Given the description of an element on the screen output the (x, y) to click on. 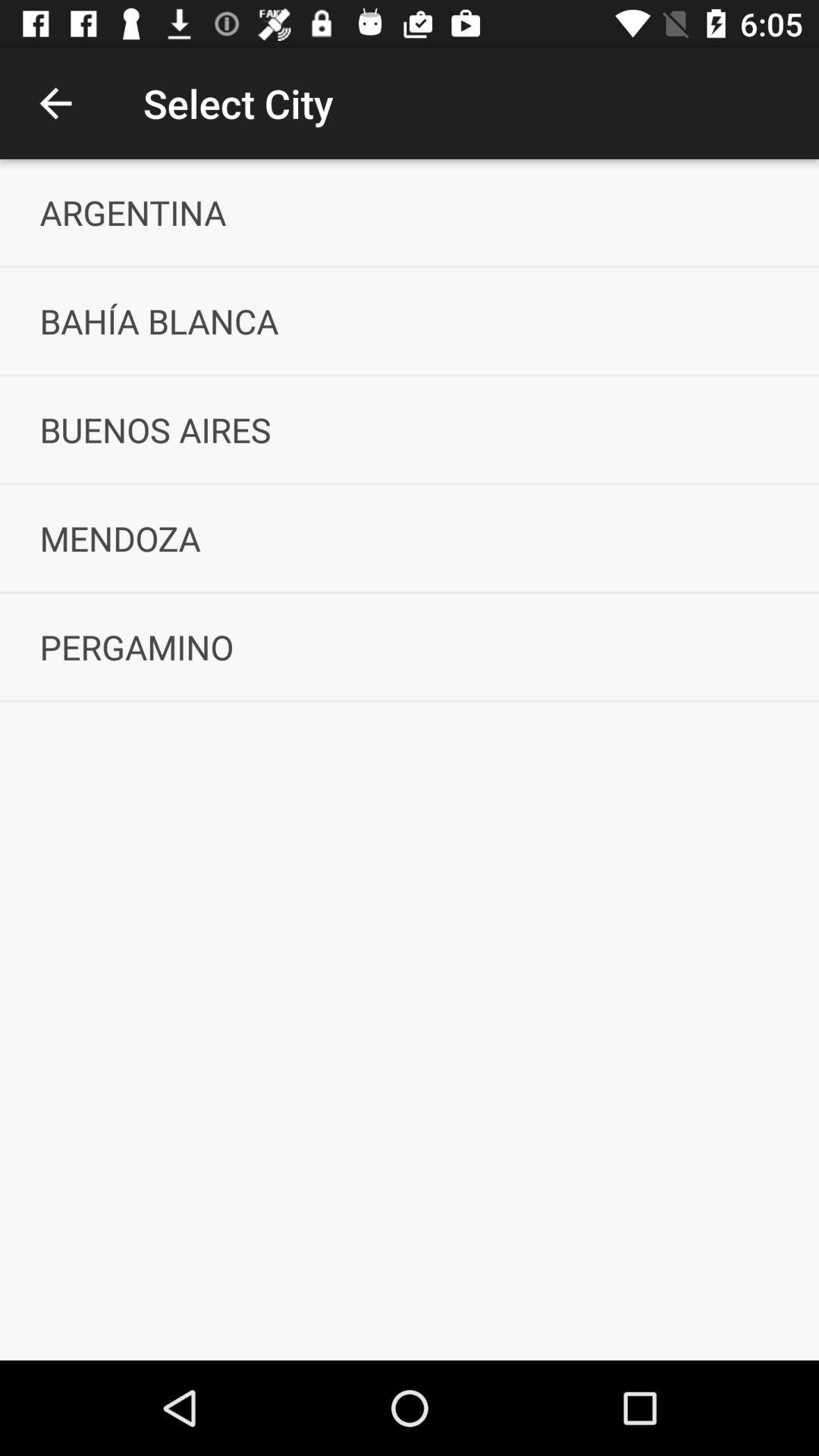
tap icon below the argentina item (409, 320)
